Given the description of an element on the screen output the (x, y) to click on. 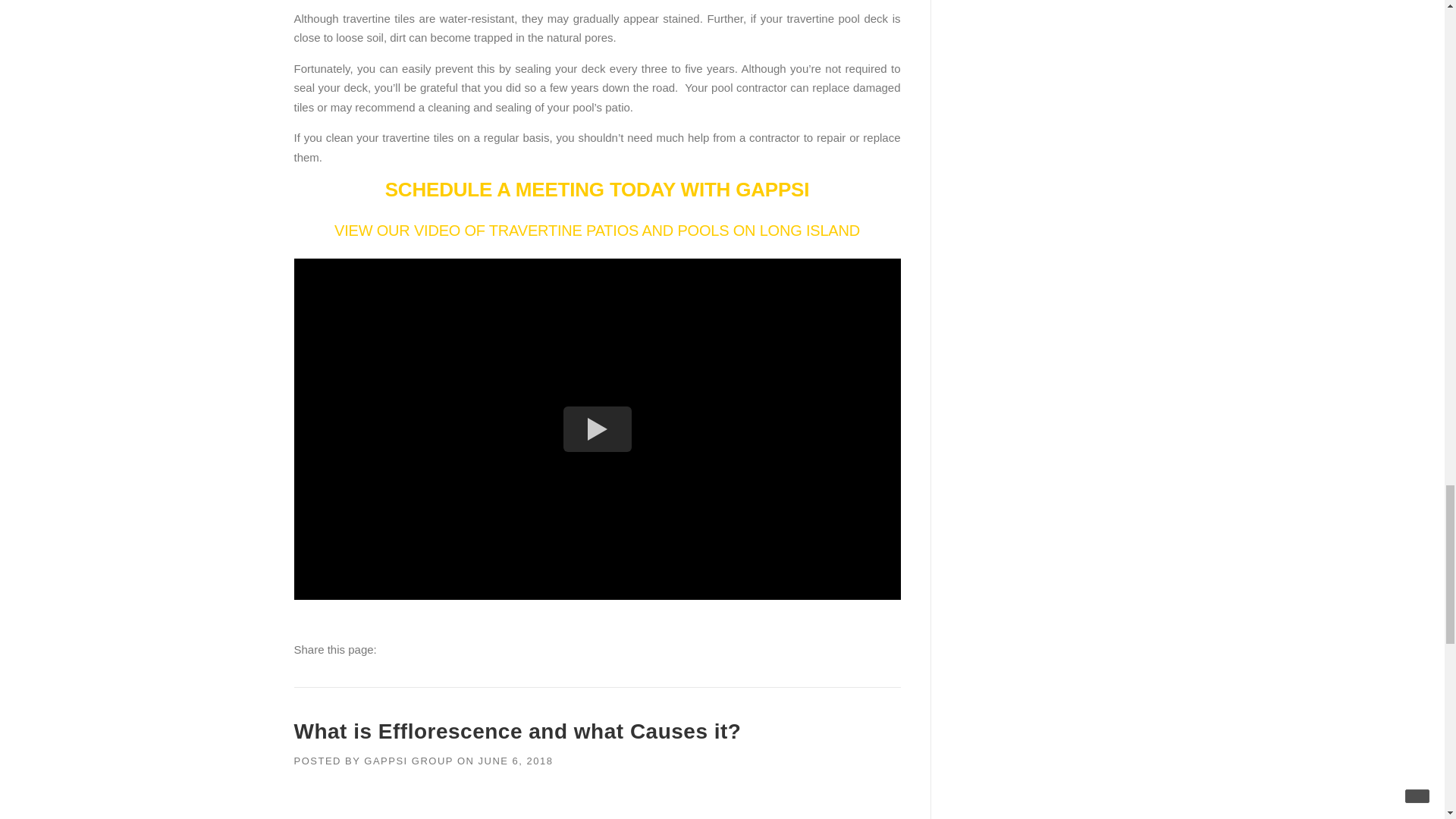
JUNE 6, 2018 (515, 760)
GAPPSI GROUP (408, 760)
VIEW OUR VIDEO OF TRAVERTINE PATIOS AND POOLS ON LONG ISLAND (597, 230)
What is Efflorescence and what Causes it? (517, 730)
